Given the description of an element on the screen output the (x, y) to click on. 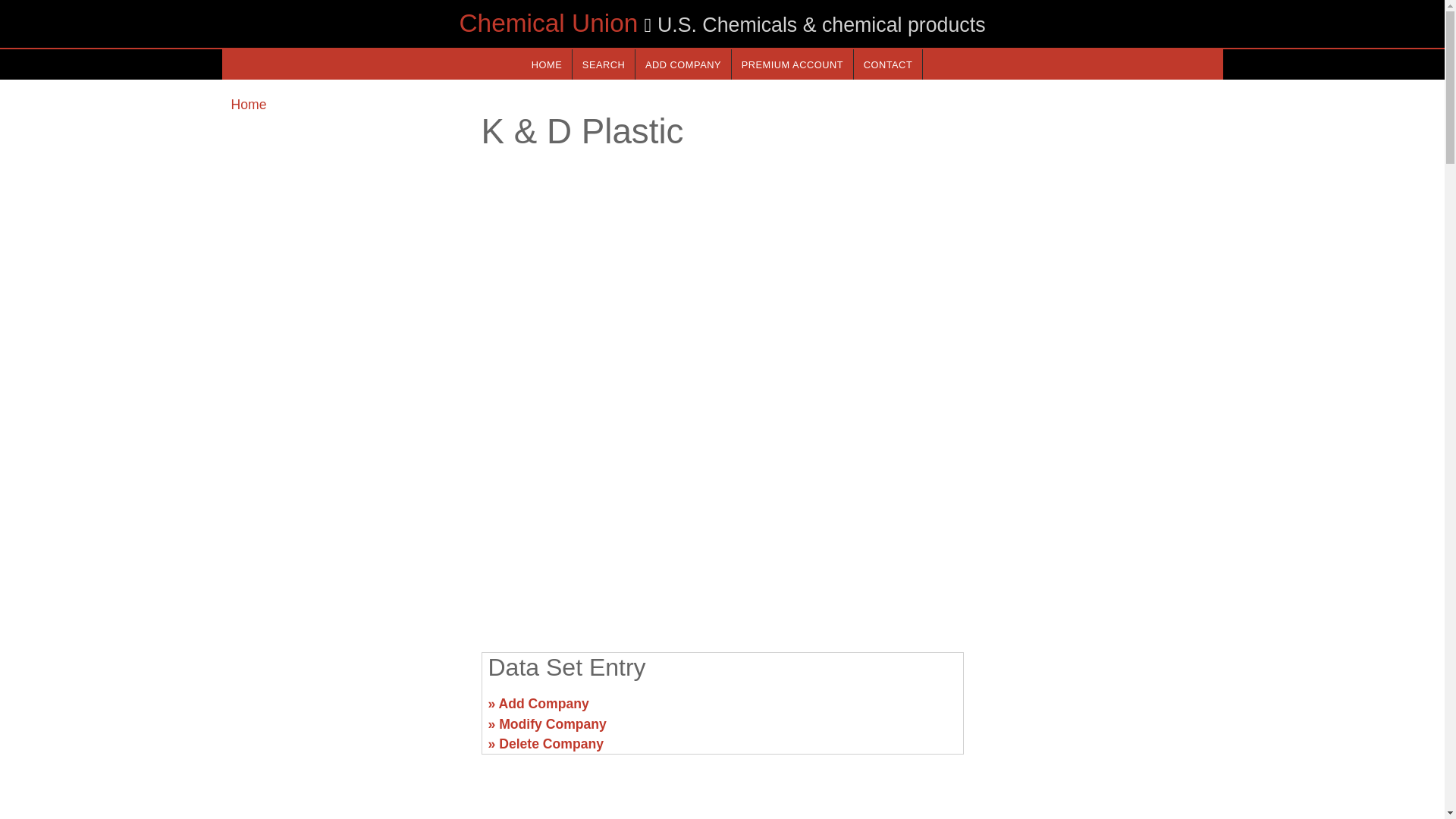
Add a new company (682, 64)
Home (248, 104)
SEARCH (603, 64)
Advertisement (721, 522)
Search in this webseite. (603, 64)
PREMIUM ACCOUNT (792, 64)
Advertisement (1096, 710)
ADD COMPANY (682, 64)
HOME (546, 64)
Premium account (792, 64)
Advertisement (346, 710)
Chemical Union (547, 22)
CONTACT (887, 64)
